Given the description of an element on the screen output the (x, y) to click on. 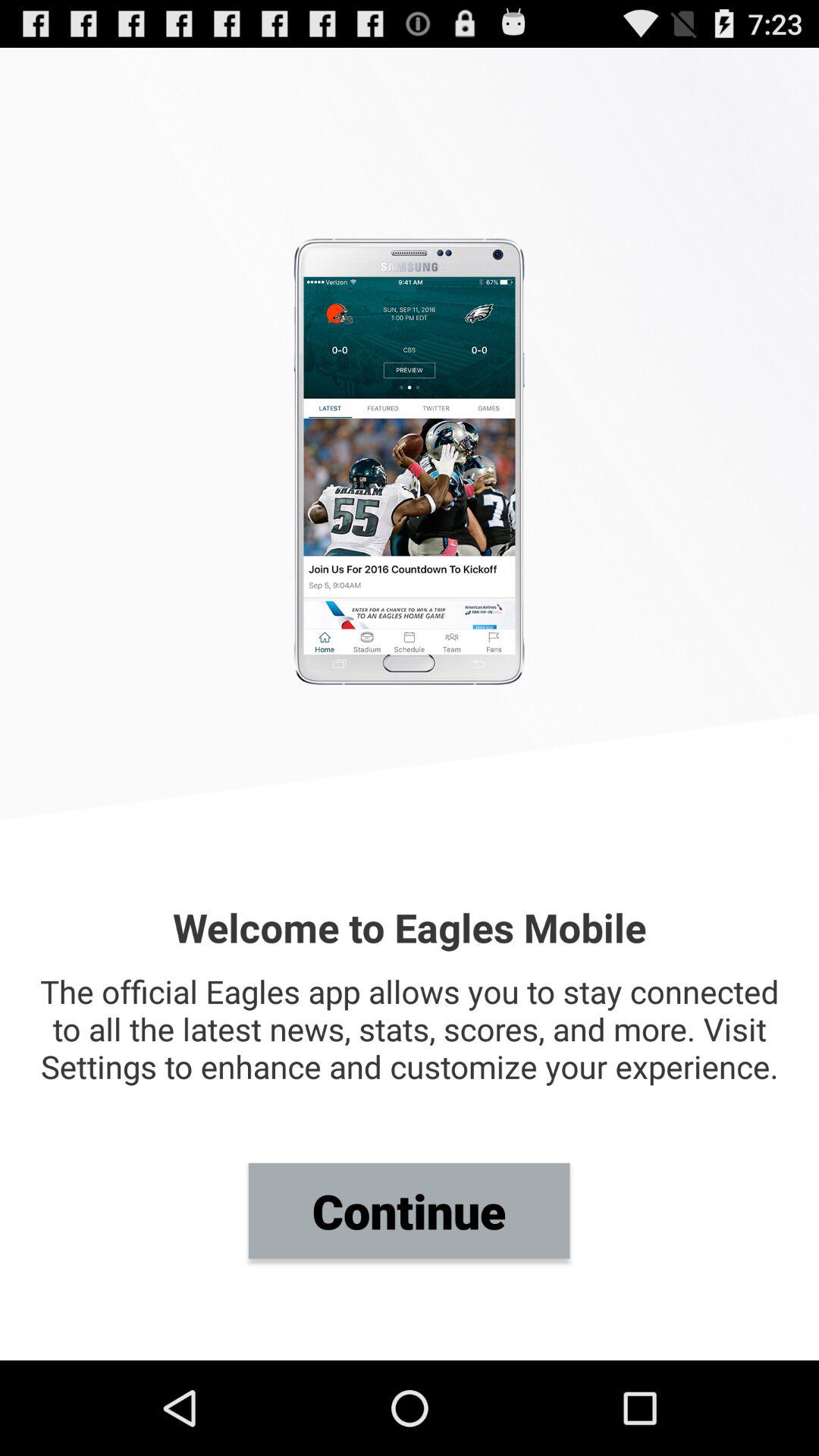
launch the continue item (408, 1210)
